Given the description of an element on the screen output the (x, y) to click on. 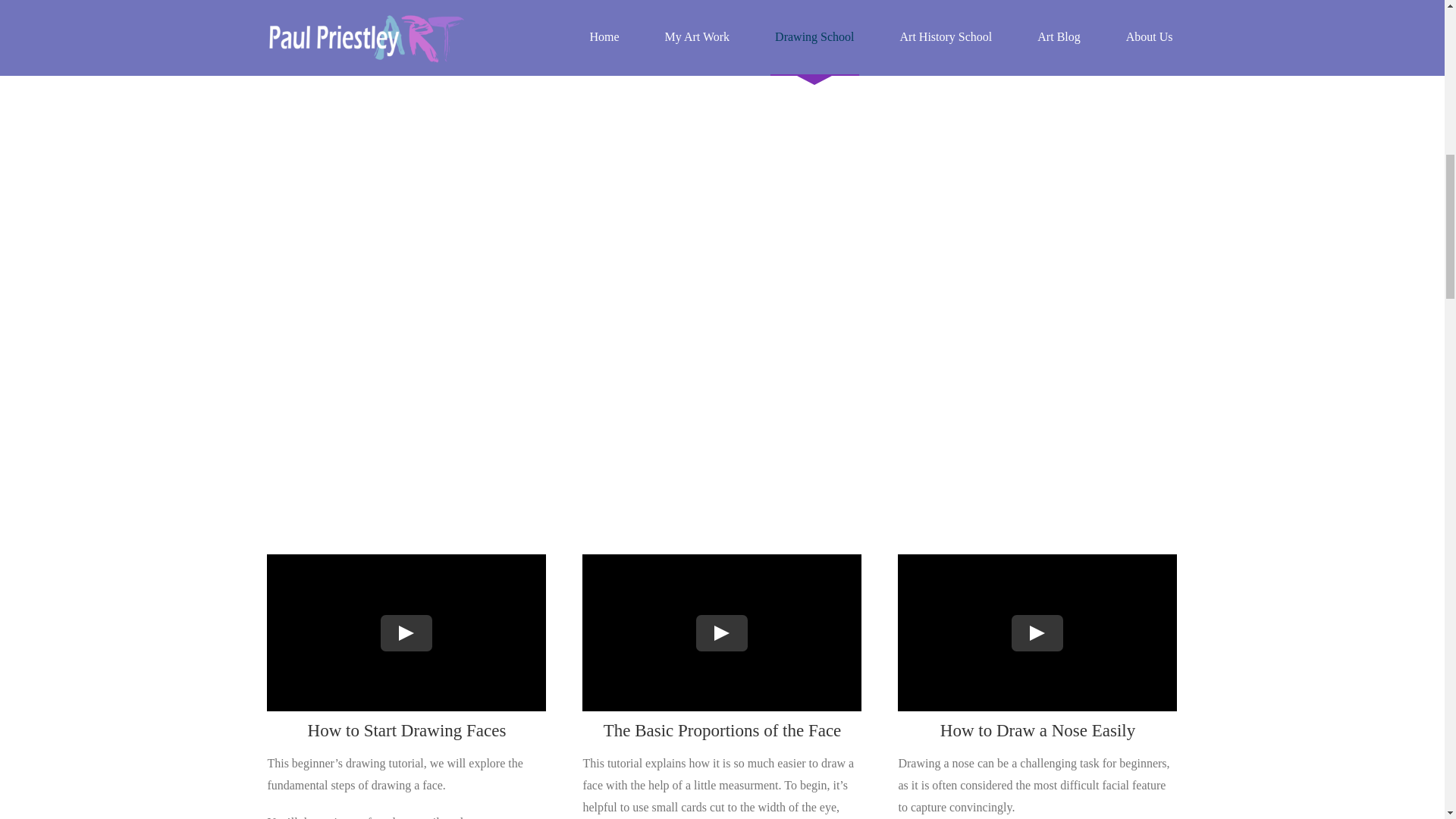
YouTube video player 3 (1037, 632)
How to draw a face in proportion (721, 632)
YouTube video player 1 (406, 632)
Play (406, 633)
